Given the description of an element on the screen output the (x, y) to click on. 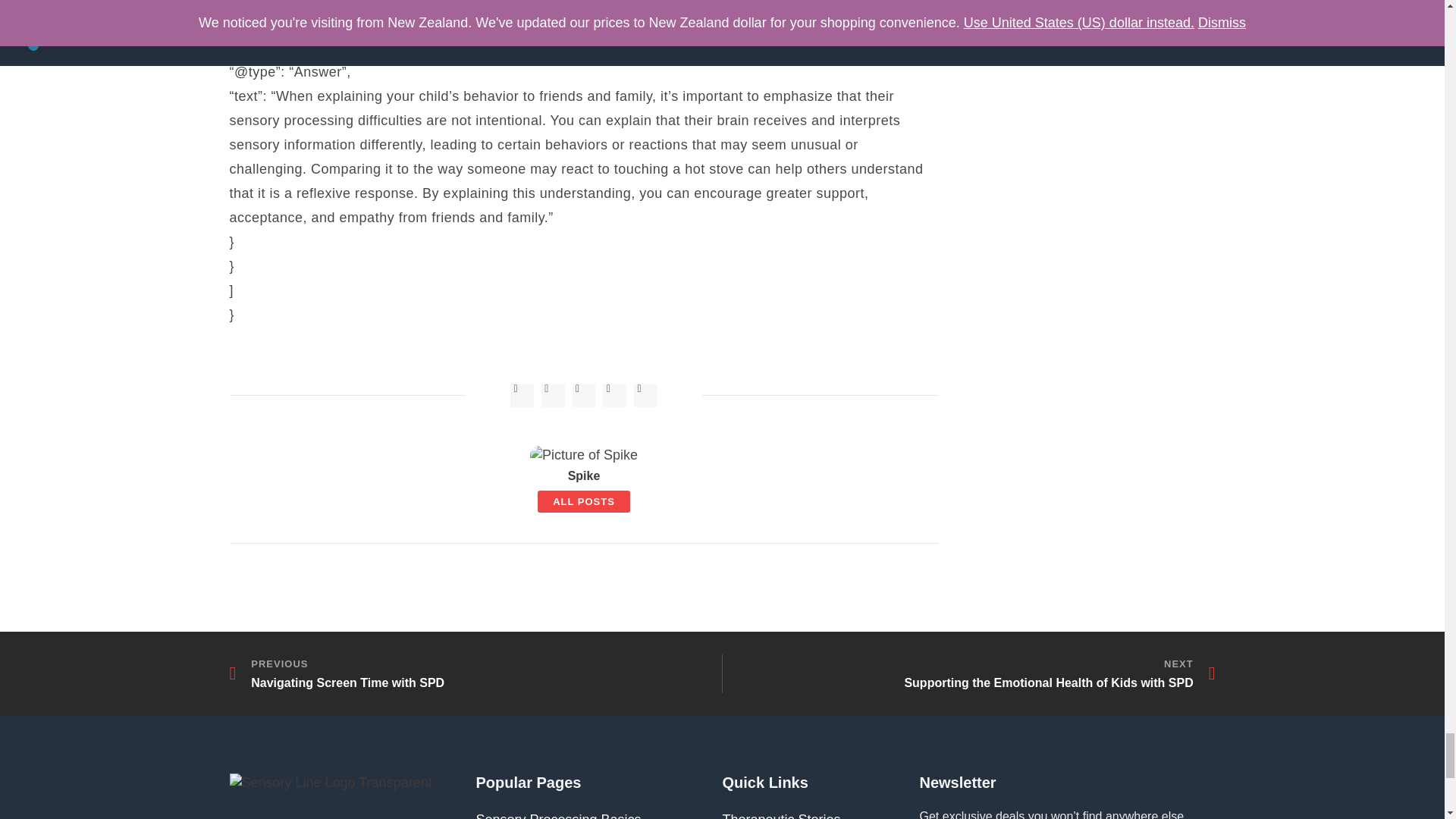
Pinterest-p (583, 395)
ALL POSTS (583, 501)
Youtube (614, 395)
Facebook-f (522, 395)
Twitter (475, 673)
Instagram (552, 395)
